Given the description of an element on the screen output the (x, y) to click on. 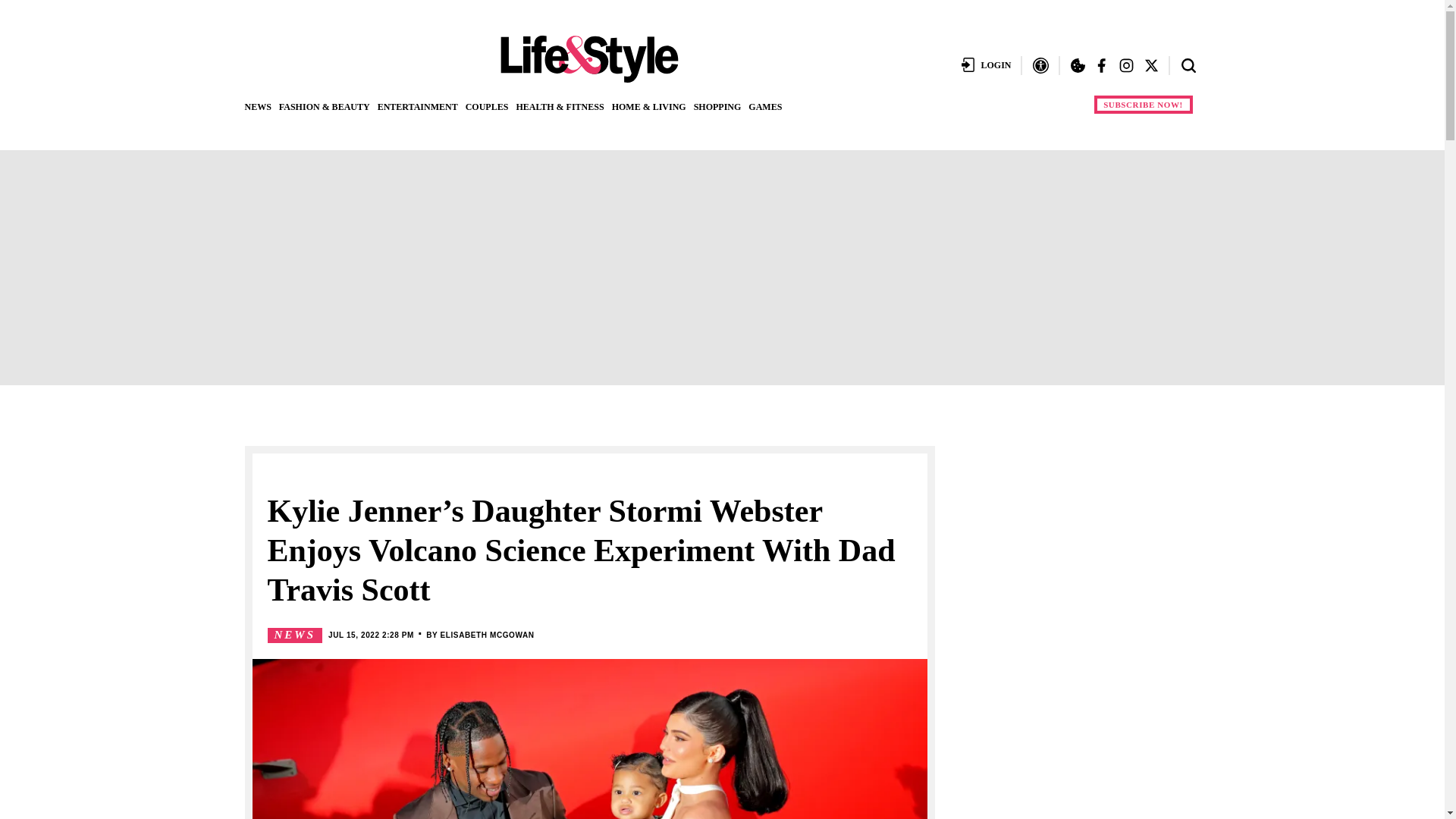
Posts by Elisabeth McGowan (486, 634)
